Given the description of an element on the screen output the (x, y) to click on. 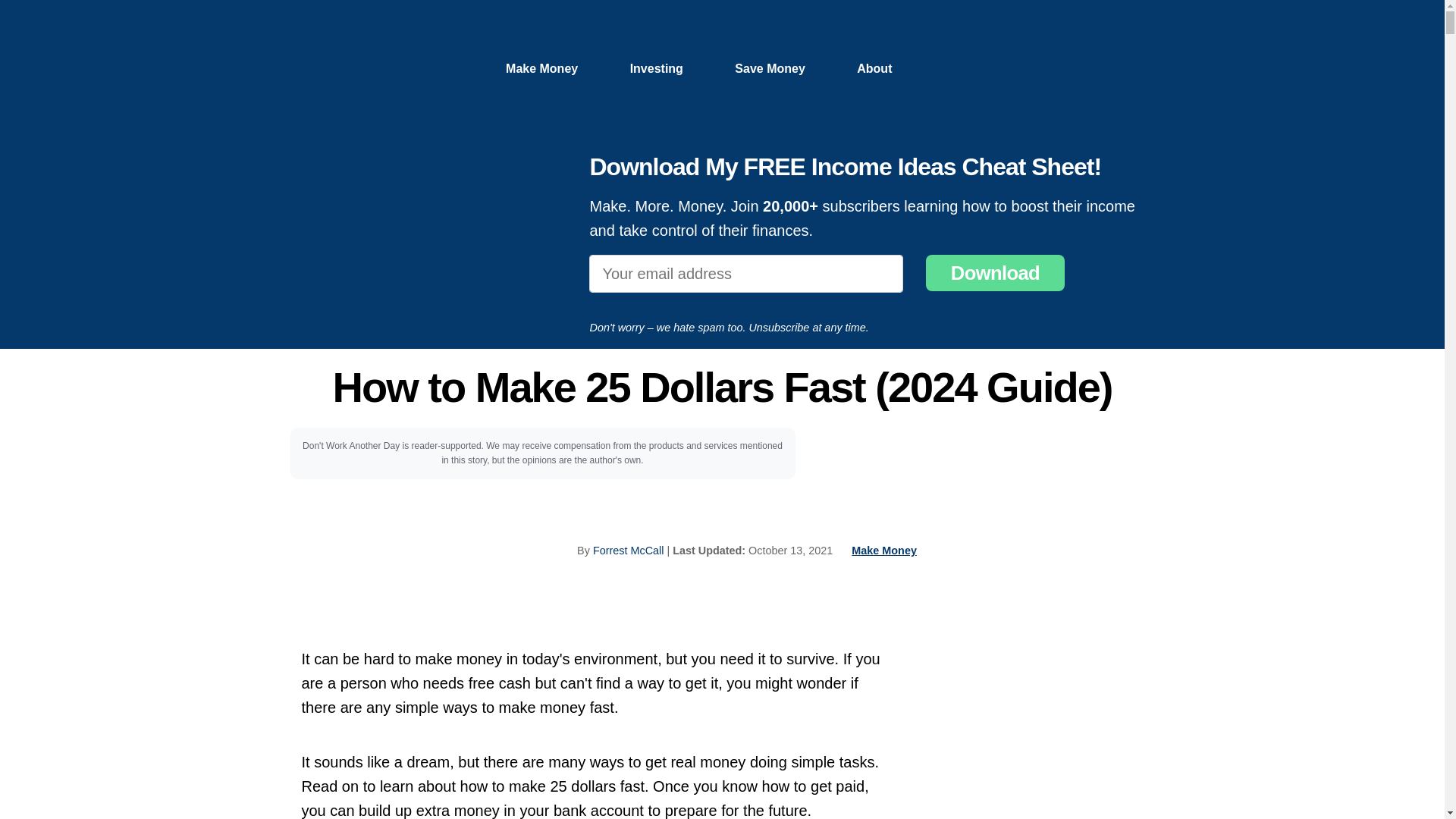
Save Money (770, 68)
About (874, 68)
Make Money (541, 68)
Make Money (884, 550)
Download (995, 272)
Forrest McCall (627, 550)
Investing (656, 68)
